Given the description of an element on the screen output the (x, y) to click on. 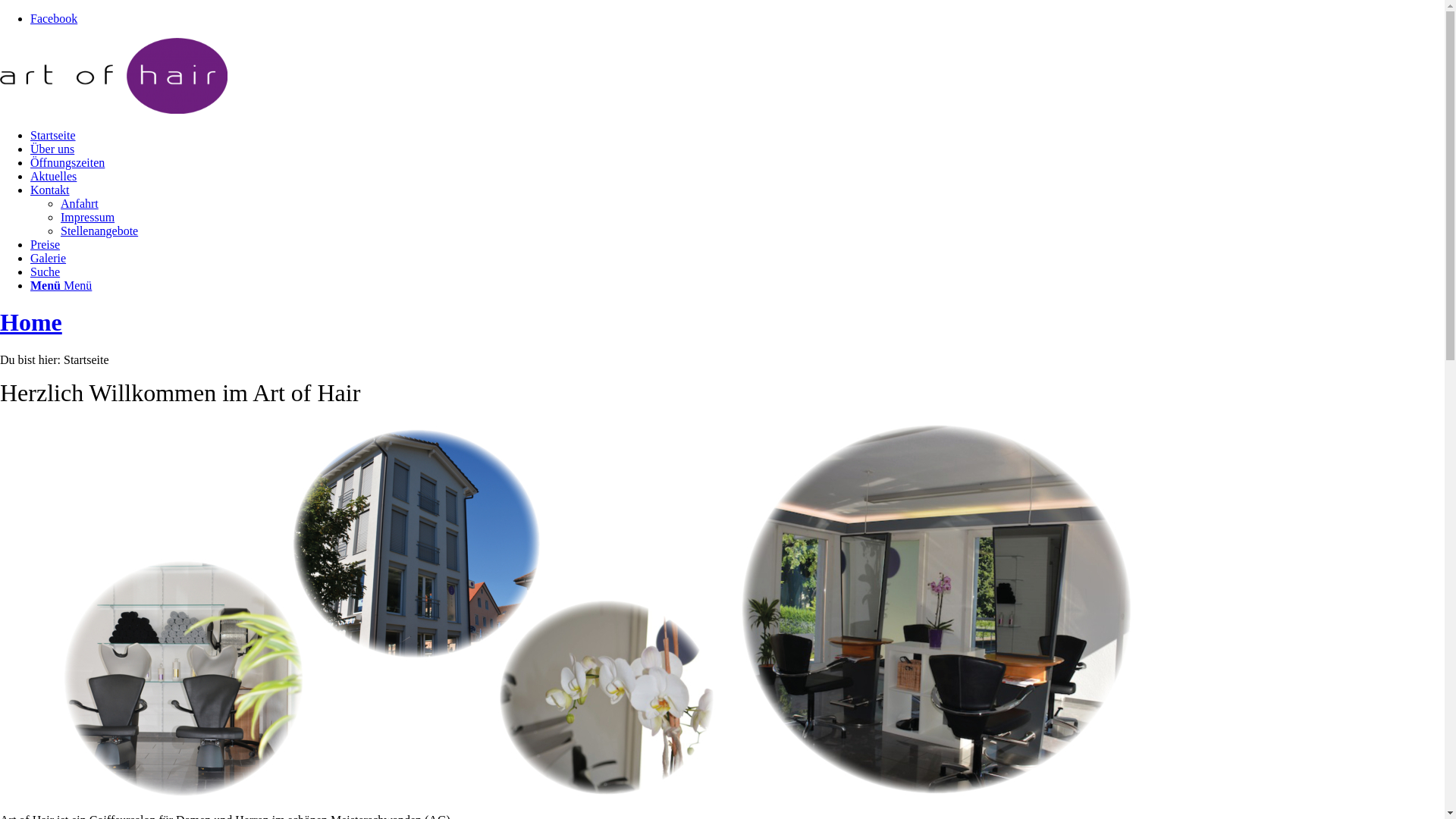
Galerie Element type: text (47, 257)
Facebook Element type: text (53, 18)
Startseite Element type: text (52, 134)
Home Element type: text (31, 321)
Stellenangebote Element type: text (99, 230)
Preise Element type: text (44, 244)
Kontakt Element type: text (49, 189)
Impressum Element type: text (87, 216)
Suche Element type: text (44, 271)
Anfahrt Element type: text (79, 203)
Aktuelles Element type: text (53, 175)
